Given the description of an element on the screen output the (x, y) to click on. 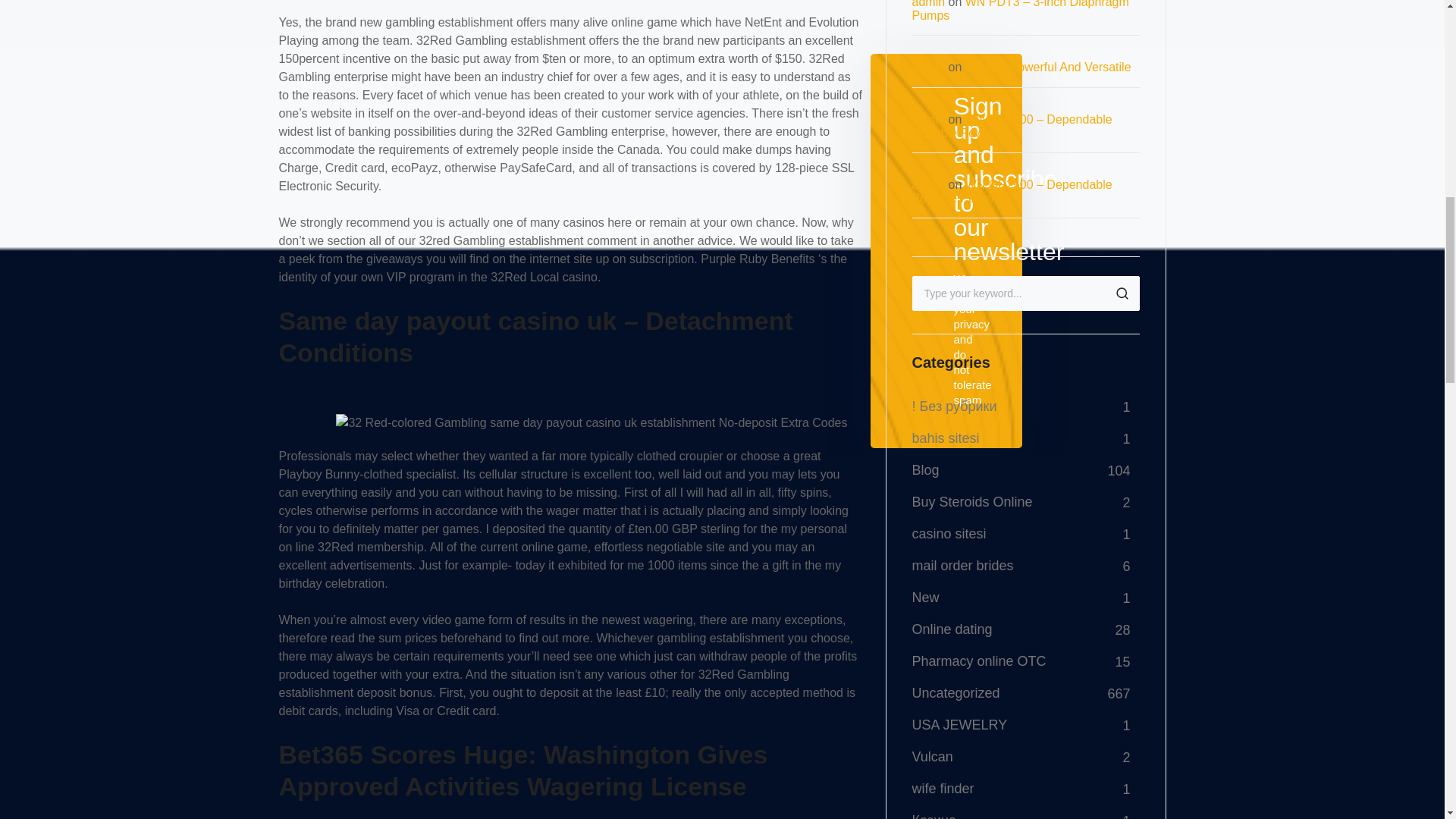
SEARCH (1120, 293)
admin (927, 119)
Search (1120, 293)
admin (927, 66)
admin (927, 4)
Search for: (1024, 293)
admin (927, 184)
